Given the description of an element on the screen output the (x, y) to click on. 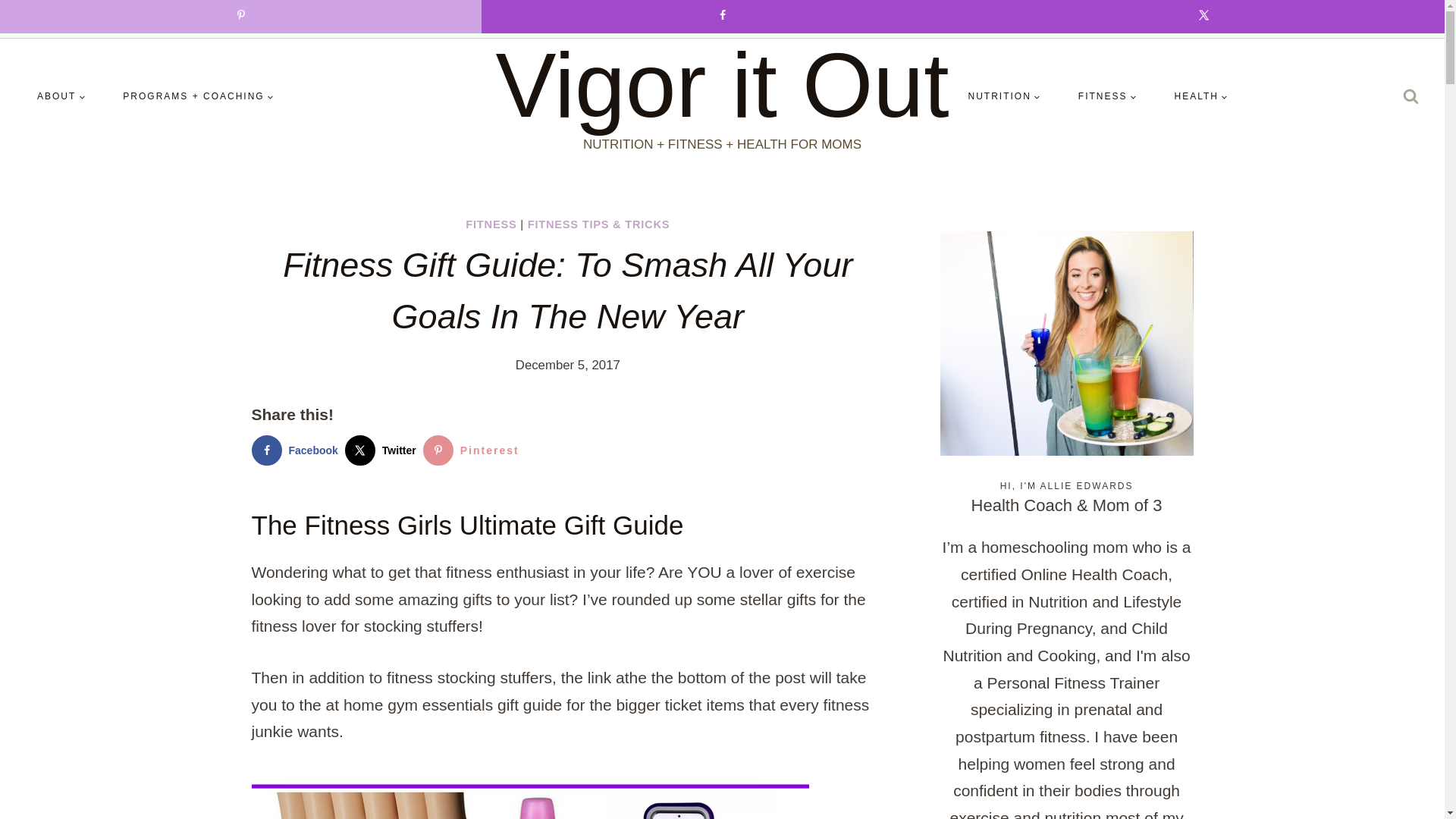
Save to Pinterest (474, 450)
HEALTH (1201, 96)
Share on X (384, 450)
NUTRITION (1004, 96)
Share on Facebook (298, 450)
ABOUT (60, 96)
Get it free for a limited time! (1008, 18)
FITNESS (1107, 96)
